Given the description of an element on the screen output the (x, y) to click on. 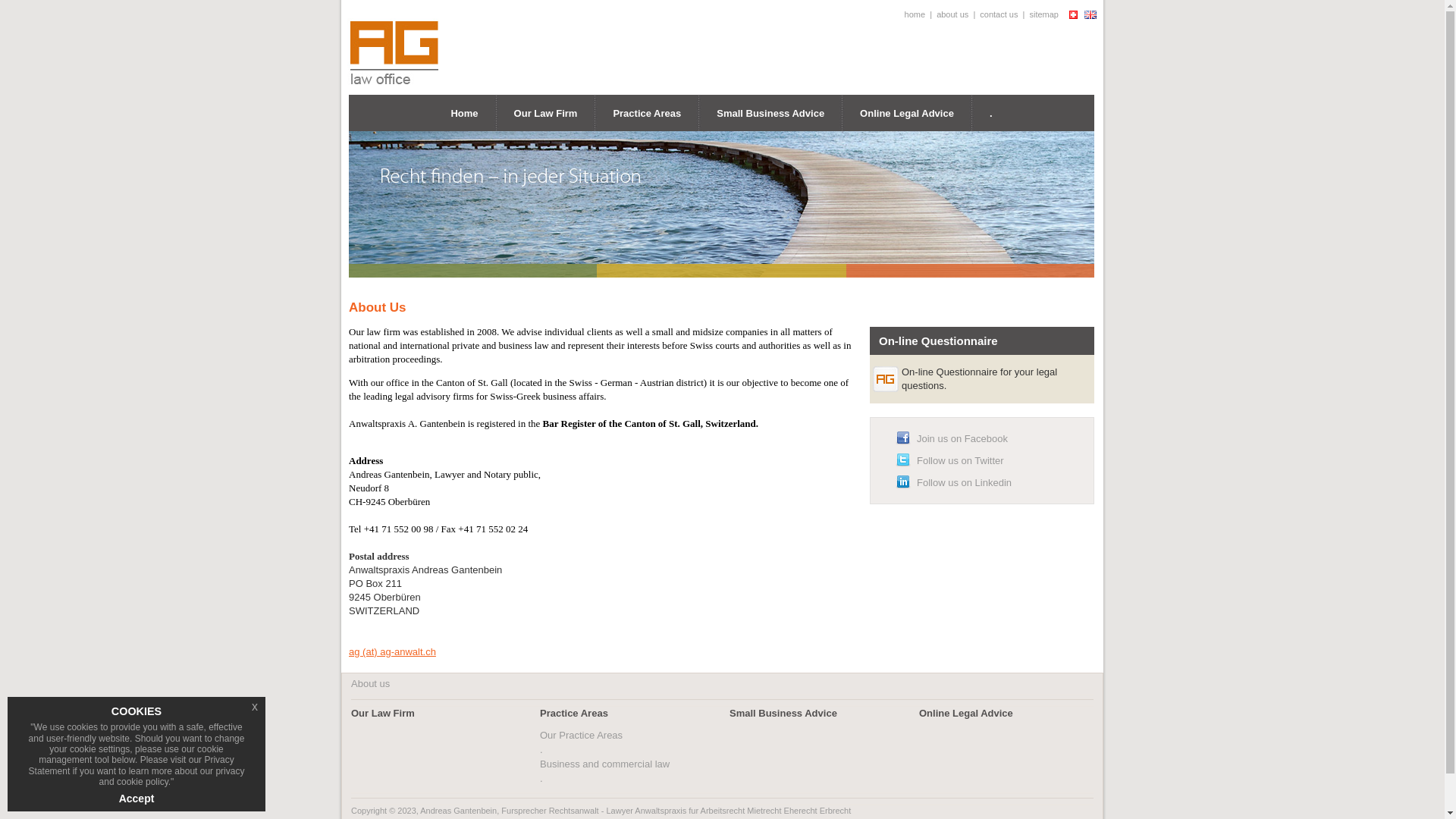
Practice Areas Element type: text (646, 112)
Our Law Firm Element type: text (545, 113)
ag (at) ag-anwalt.ch Element type: text (392, 651)
Accept Element type: text (136, 798)
contact us Element type: text (998, 13)
Our Practice Areas Element type: text (580, 734)
home Element type: text (914, 13)
On-line Questionnaire Element type: text (937, 340)
. Element type: text (540, 749)
Join us on Facebook Element type: text (961, 438)
Follow us on Linkedin Element type: text (963, 482)
Online Legal Advice Element type: text (906, 113)
Follow us on Twitter Element type: text (960, 460)
sitemap Element type: text (1043, 13)
Our Law Firm Element type: text (382, 712)
Business and commercial law Element type: text (604, 763)
Online Legal Advice Element type: text (966, 712)
On-line Questionnaire for your legal questions. Element type: text (979, 378)
Small Business Advice Element type: text (783, 712)
. Element type: text (990, 113)
Home Element type: text (463, 113)
about us Element type: text (952, 13)
Small Business Advice Element type: text (770, 113)
. Element type: text (540, 778)
x Element type: text (254, 706)
